Given the description of an element on the screen output the (x, y) to click on. 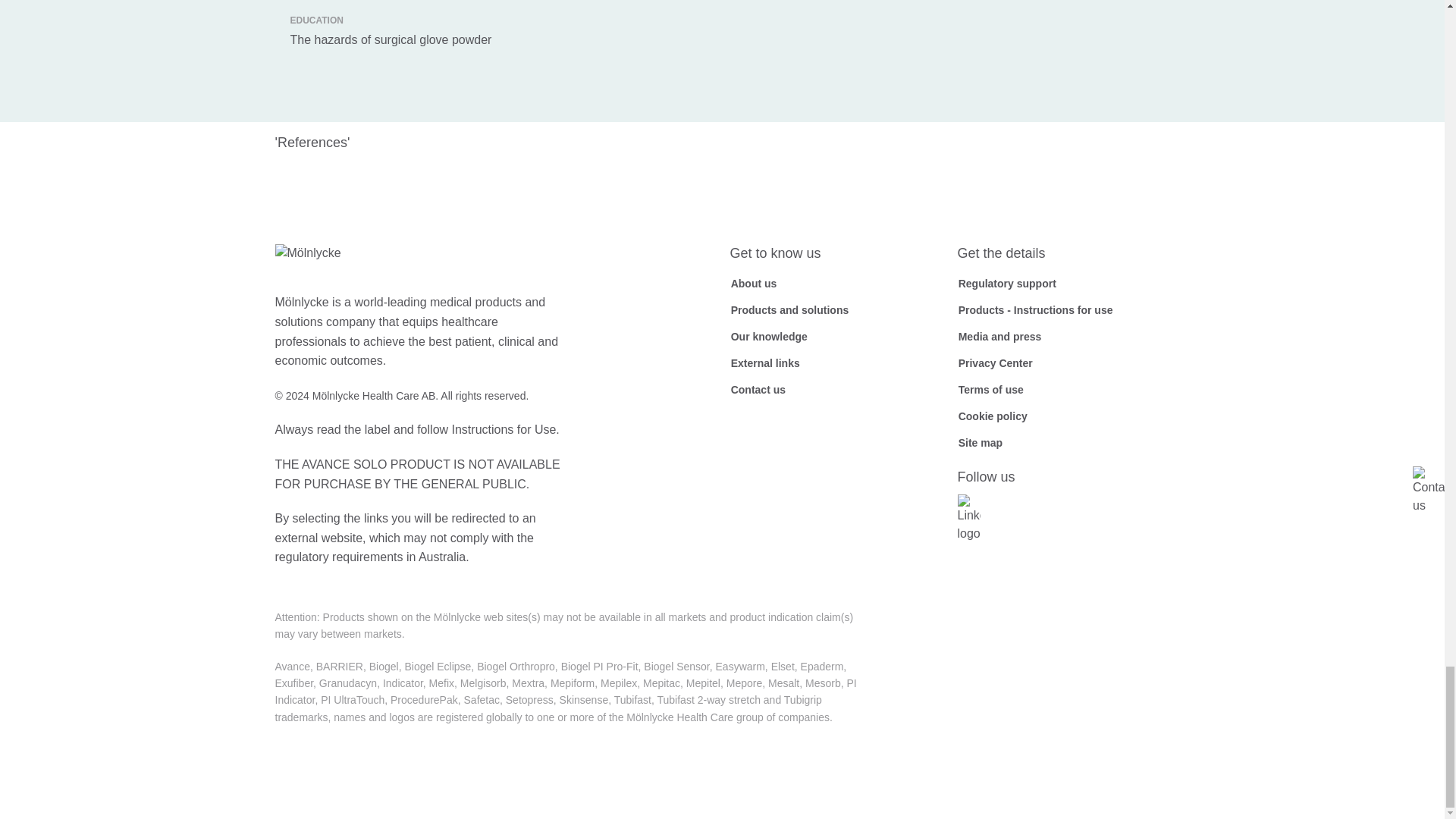
Terms of use (990, 389)
Read more about products and solutions (789, 310)
Cookie policy (992, 416)
IFU (1035, 310)
Regulatory support and product information (1006, 283)
Media and press (999, 336)
External links (765, 362)
Privacy Center (994, 362)
